Given the description of an element on the screen output the (x, y) to click on. 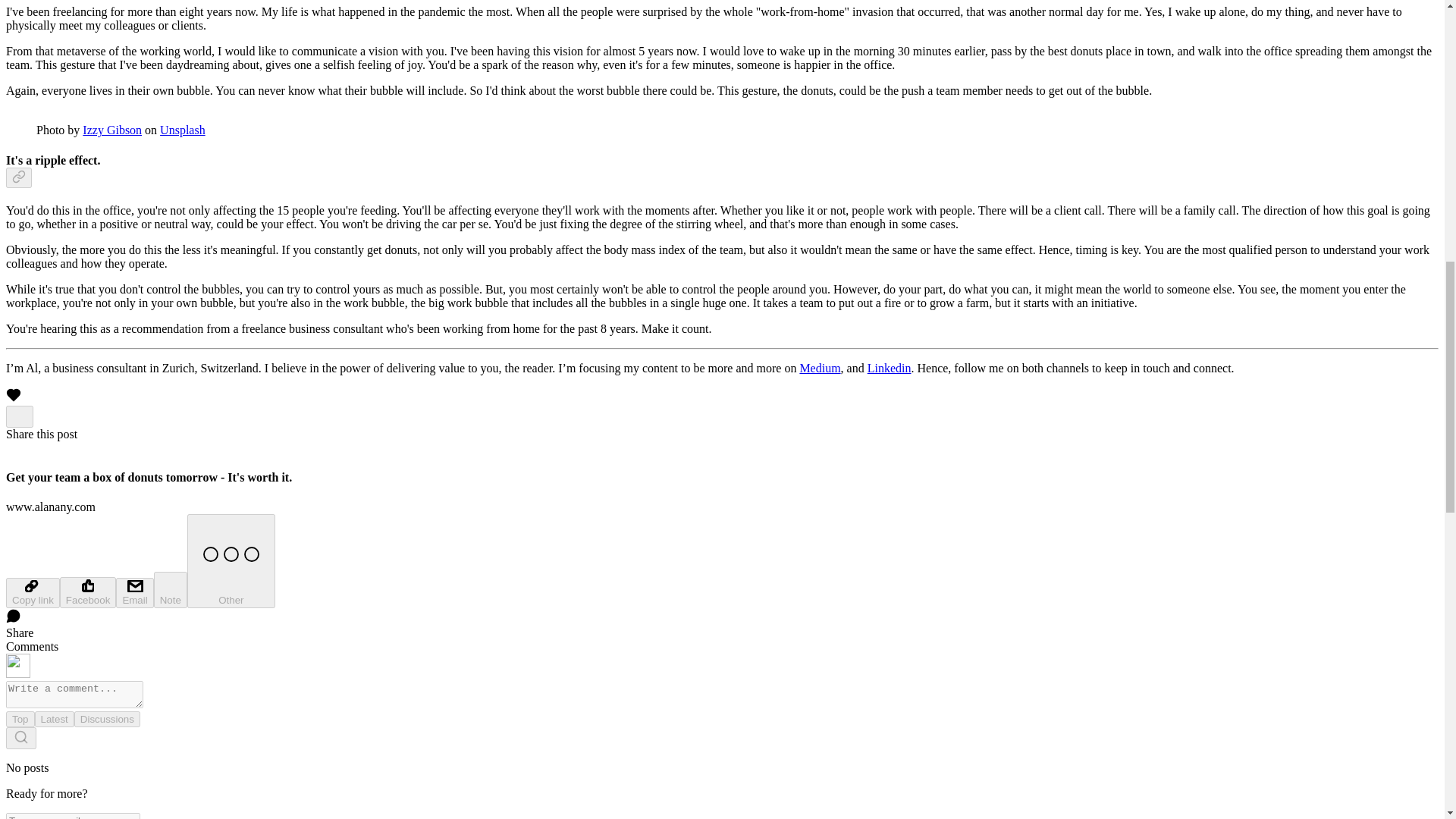
Linkedin (889, 367)
Top (19, 719)
Email (134, 593)
Copy link (32, 593)
Other (231, 561)
Note (170, 589)
Unsplash (182, 129)
Medium (819, 367)
Facebook (87, 592)
Izzy Gibson (111, 129)
